Given the description of an element on the screen output the (x, y) to click on. 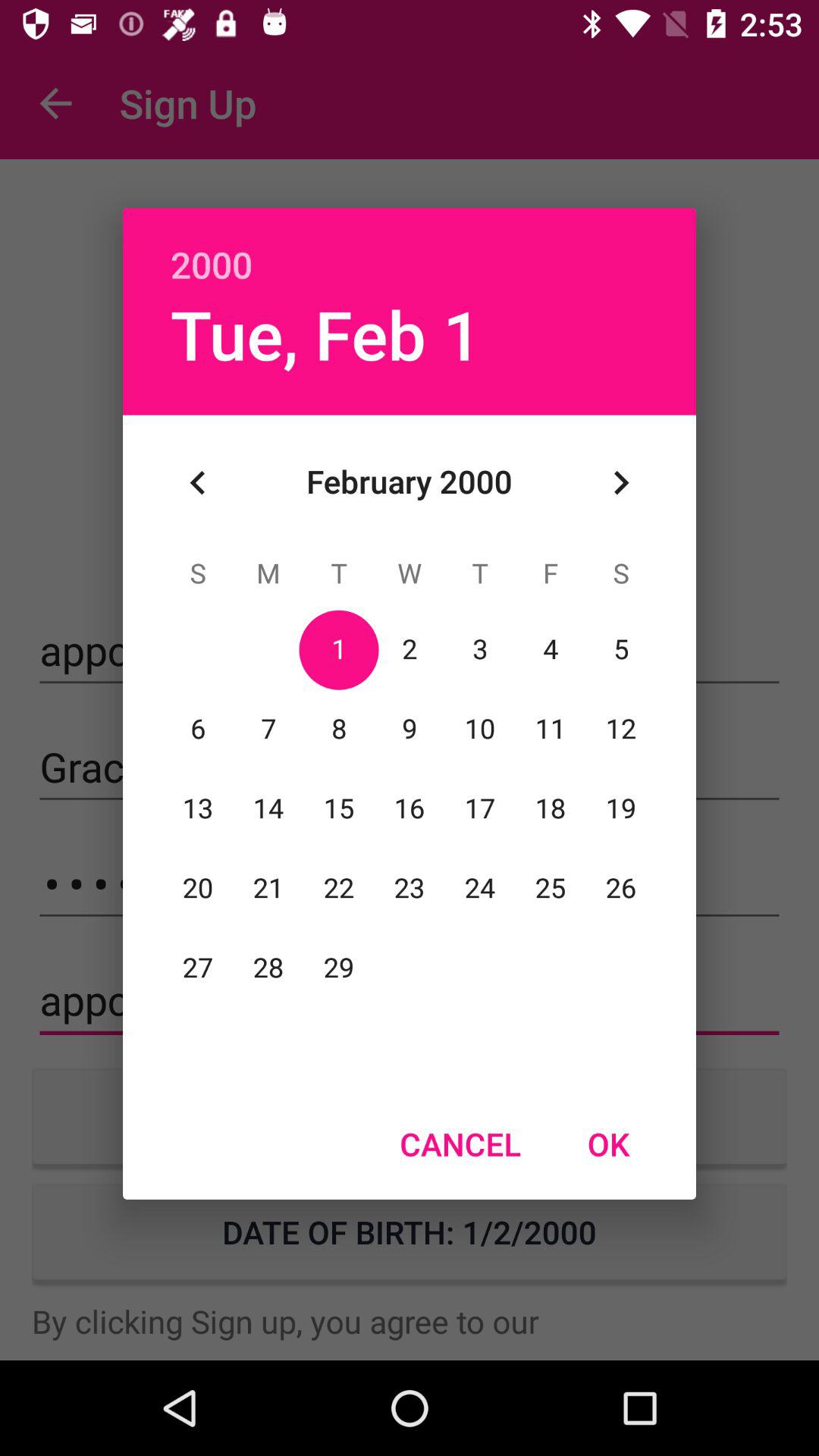
tap the item to the left of ok (459, 1143)
